Given the description of an element on the screen output the (x, y) to click on. 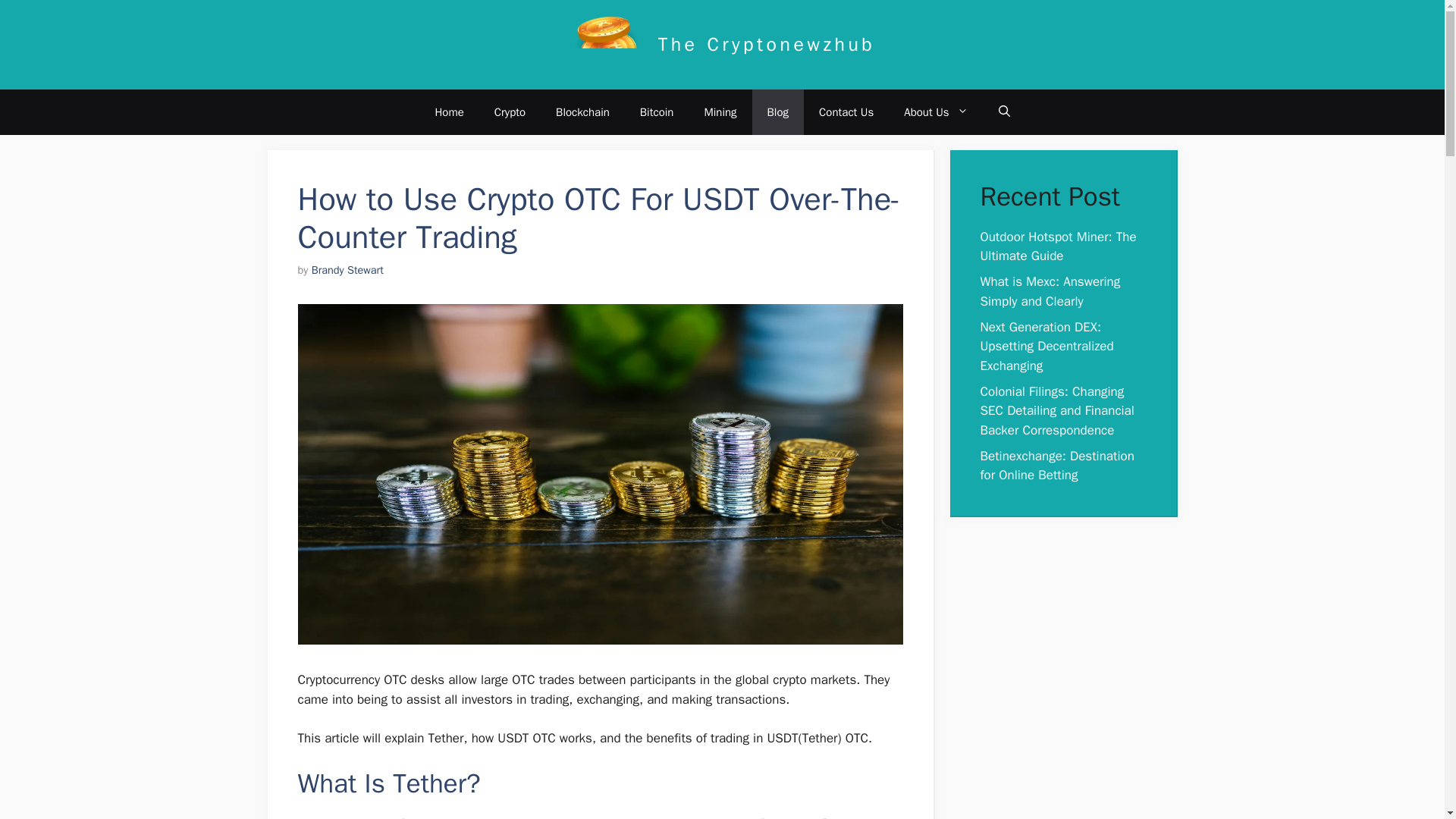
Contact Us (845, 112)
Bitcoin (656, 112)
Blockchain (582, 112)
The Cryptonewzhub (767, 44)
Home (449, 112)
Blog (777, 112)
View all posts by Brandy Stewart (347, 269)
About Us (935, 112)
Crypto (509, 112)
Mining (719, 112)
